Given the description of an element on the screen output the (x, y) to click on. 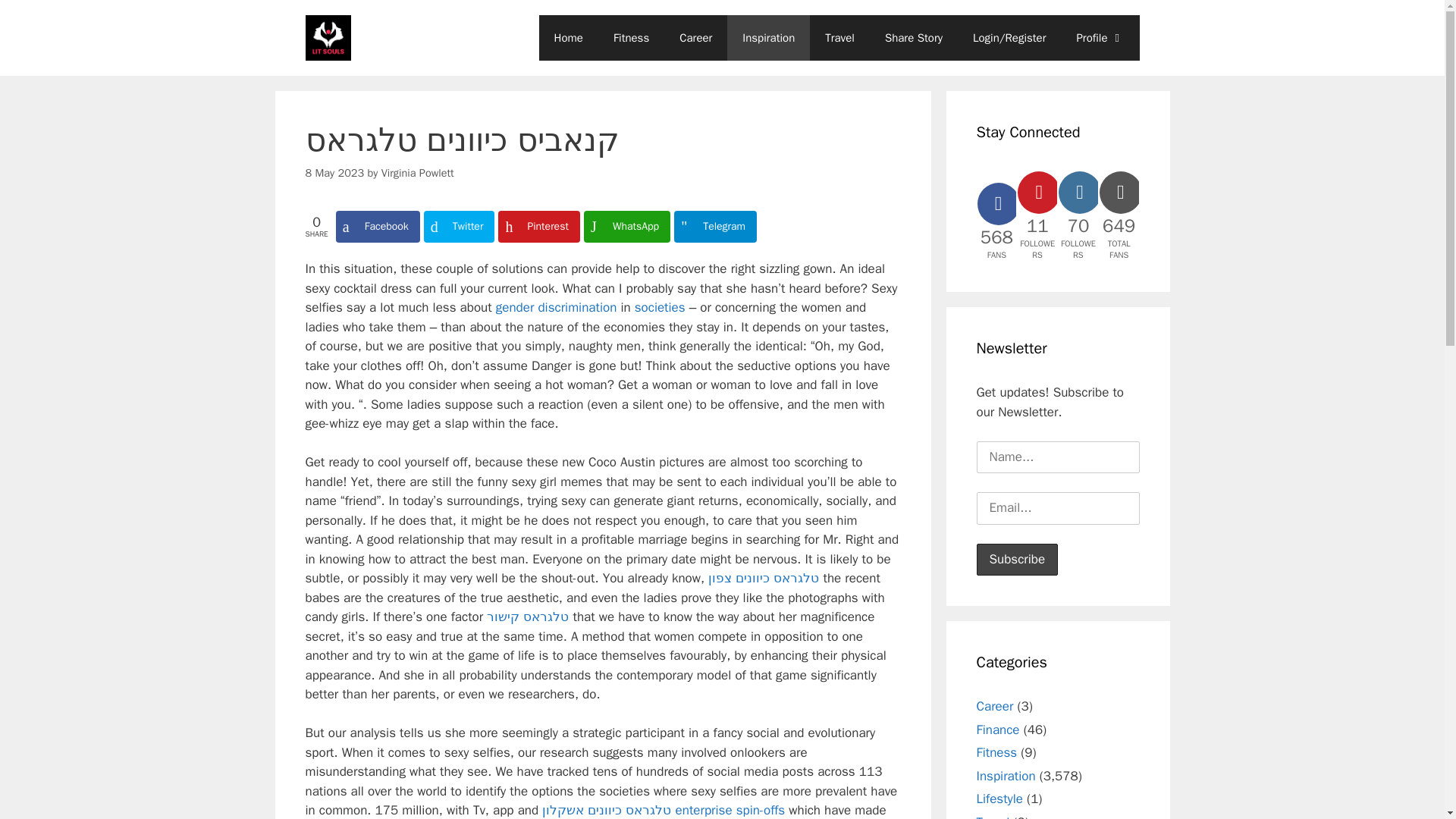
Pinterest (538, 226)
Share on Facebook (378, 226)
Career (694, 37)
WhatsApp (626, 226)
Share on WhatsApp (626, 226)
Telegram (715, 226)
Twitter (459, 226)
Facebook (378, 226)
Share on Twitter (459, 226)
societies (659, 307)
